Given the description of an element on the screen output the (x, y) to click on. 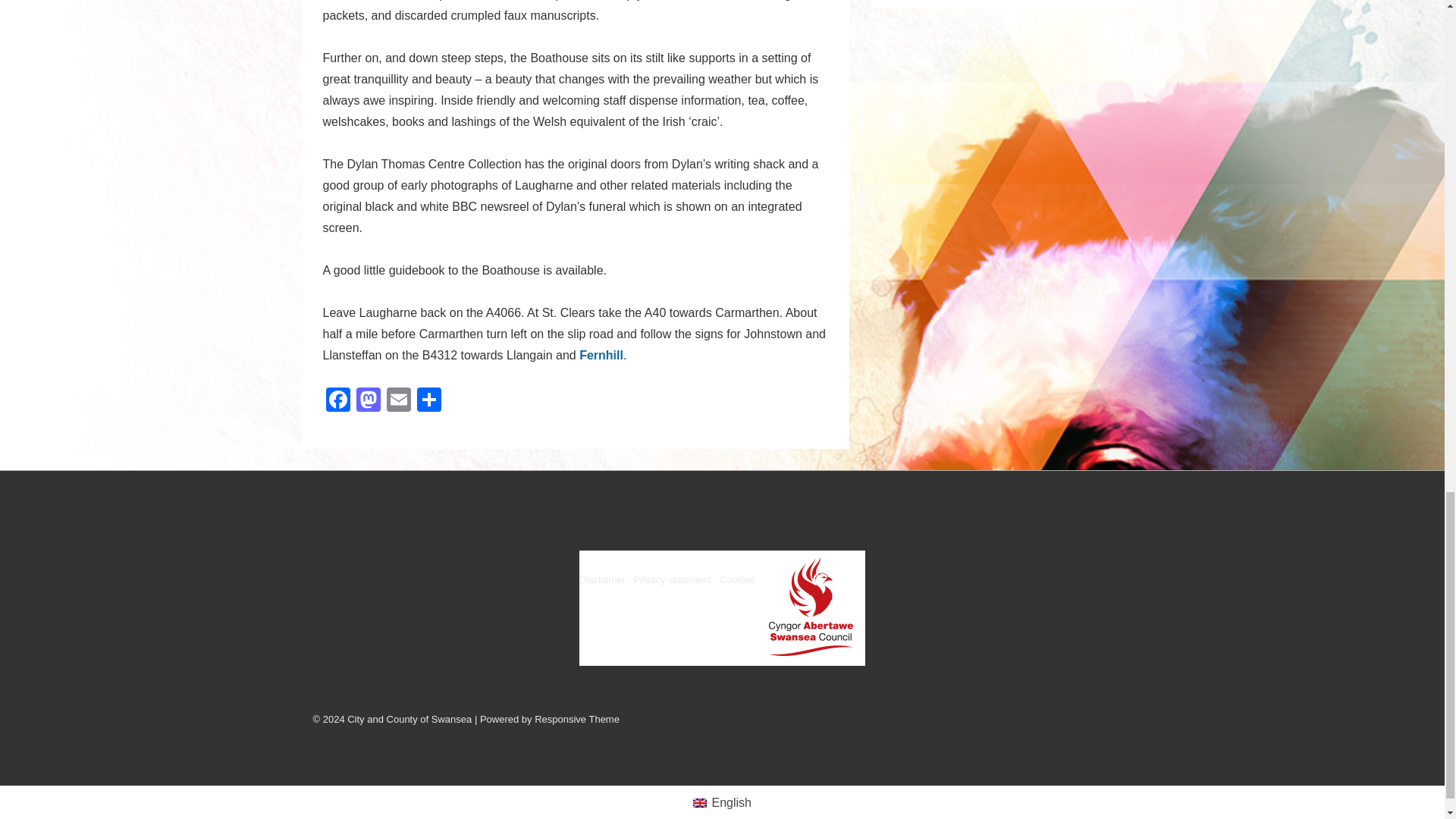
Mastodon (368, 401)
Email (398, 401)
English (699, 802)
Facebook (338, 401)
